Given the description of an element on the screen output the (x, y) to click on. 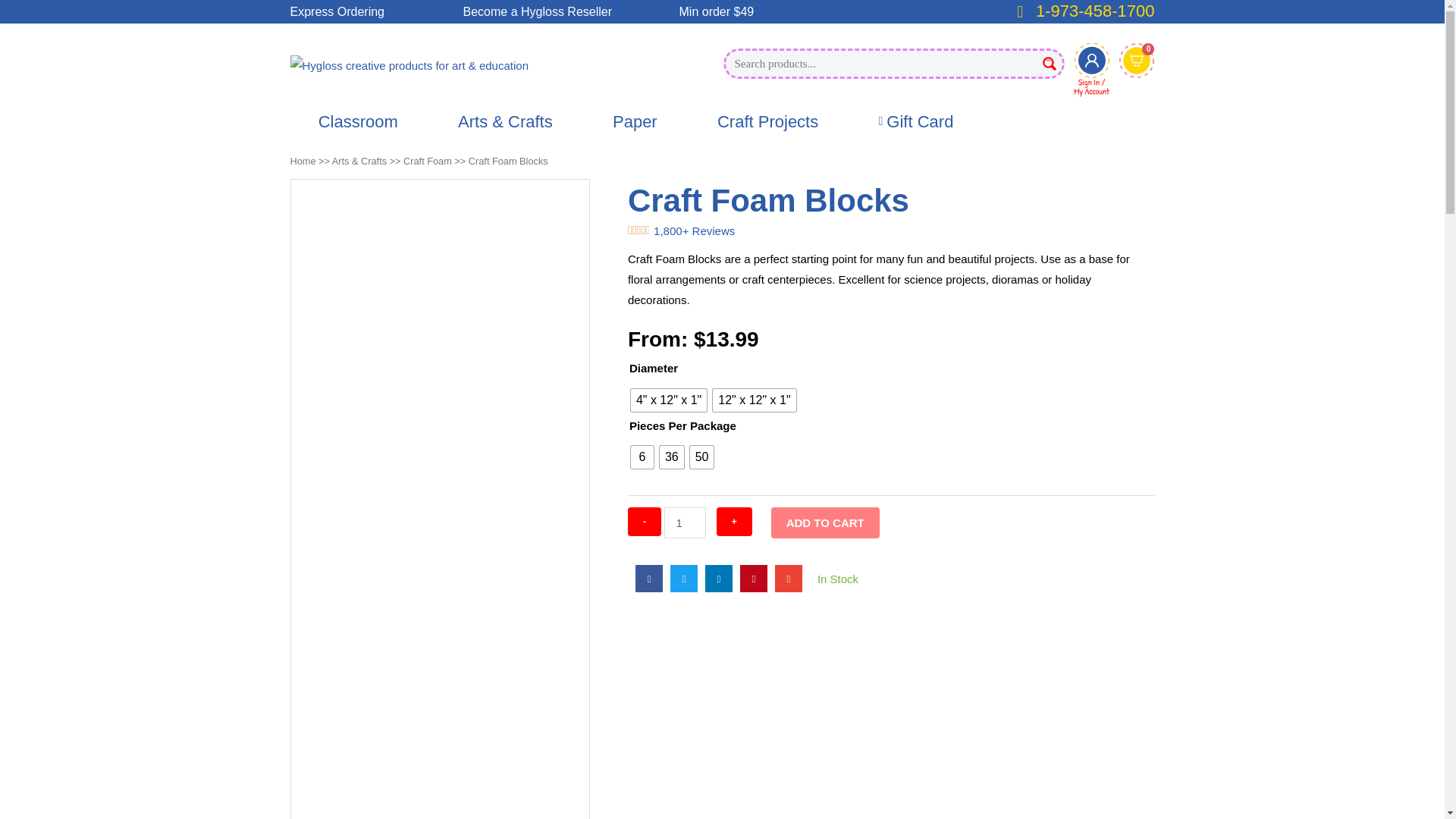
12" x 12" x 1" (753, 400)
Become a Hygloss Reseller (570, 11)
Paper (635, 121)
50 (702, 456)
Gift Card (915, 121)
36 (671, 456)
Craft Projects (767, 121)
4" x 12" x 1" (668, 400)
6 (641, 456)
1-973-458-1700 (1081, 11)
1 (1136, 62)
Classroom (683, 522)
Express Ordering (357, 121)
